Given the description of an element on the screen output the (x, y) to click on. 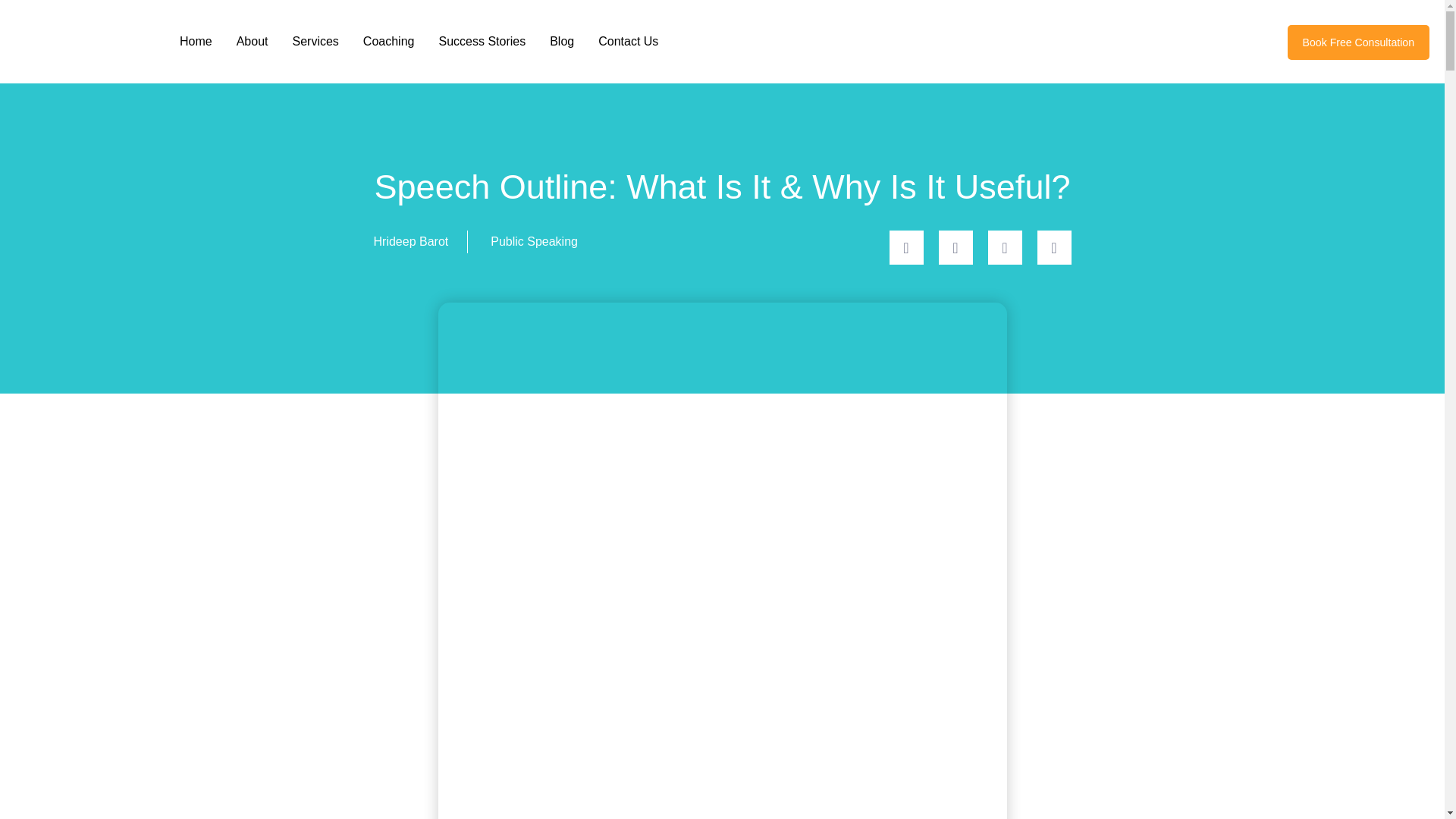
Book Free Consultation (1358, 42)
Hrideep Barot (410, 241)
Public Speaking (534, 241)
Coaching (388, 41)
Success Stories (481, 41)
Contact Us (627, 41)
